Given the description of an element on the screen output the (x, y) to click on. 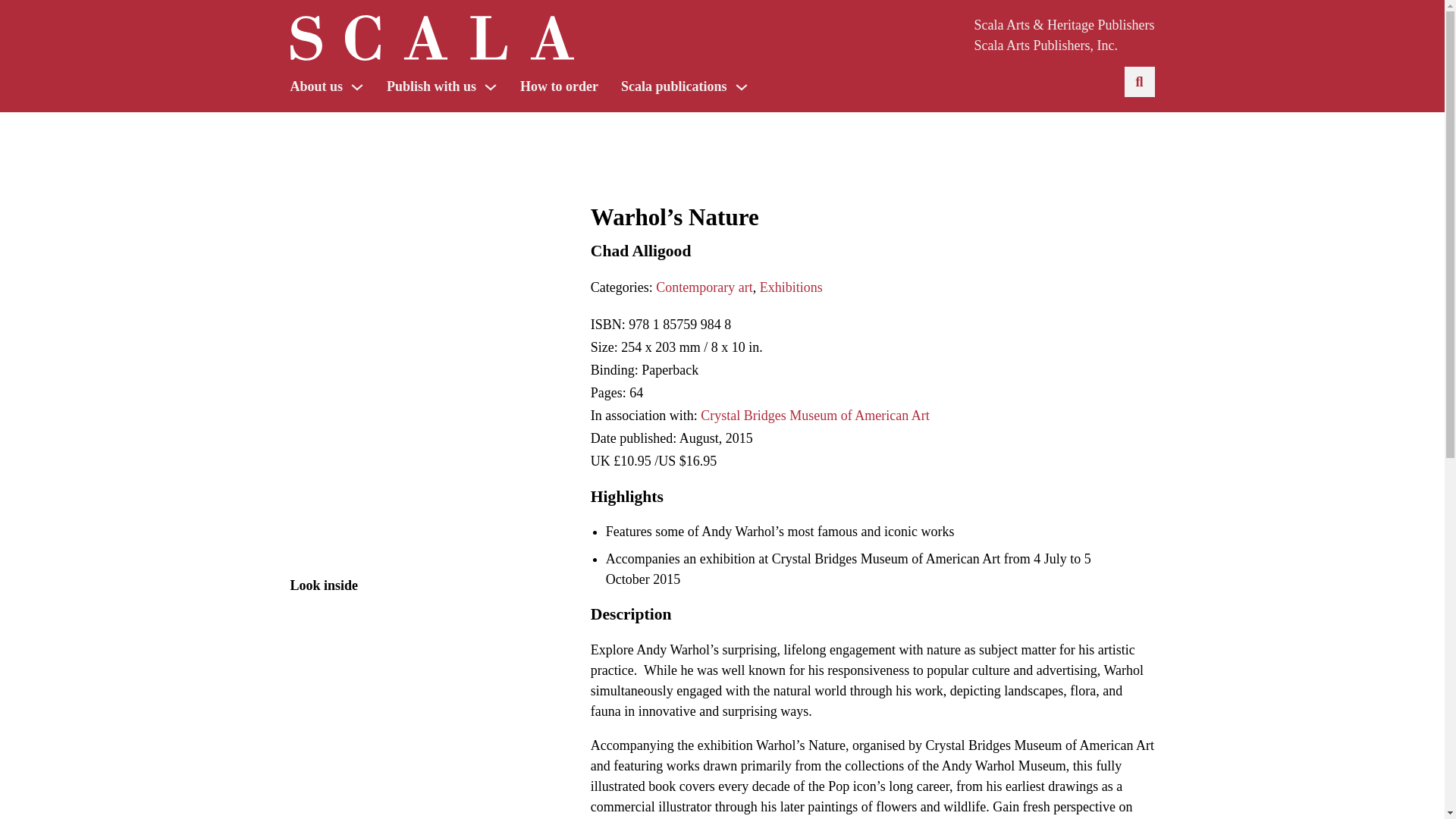
About us (315, 86)
home link  (431, 40)
Scala publications (673, 86)
How to order (558, 86)
Publish with us (431, 86)
